Given the description of an element on the screen output the (x, y) to click on. 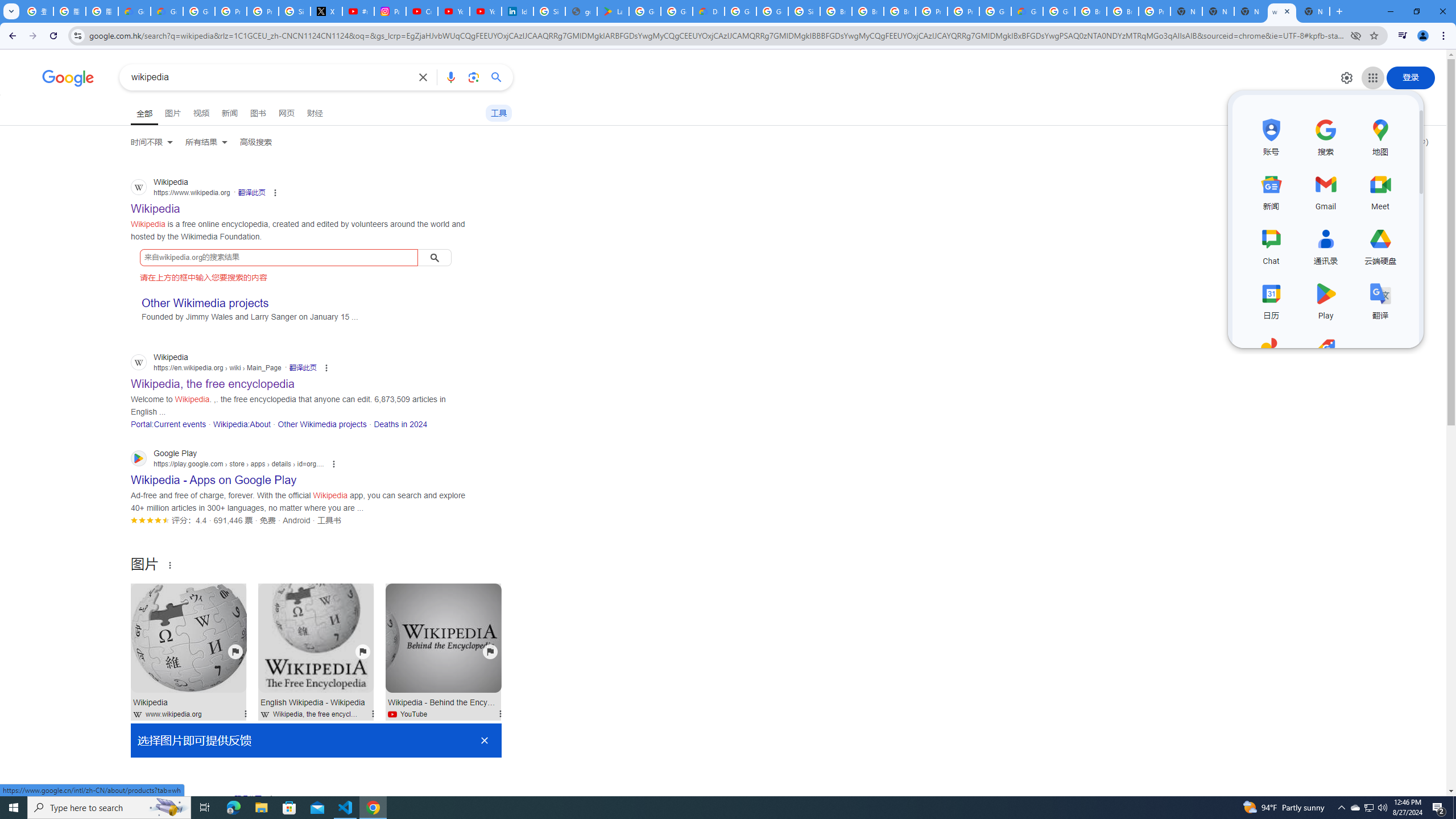
Sign in - Google Accounts (549, 11)
